Given the description of an element on the screen output the (x, y) to click on. 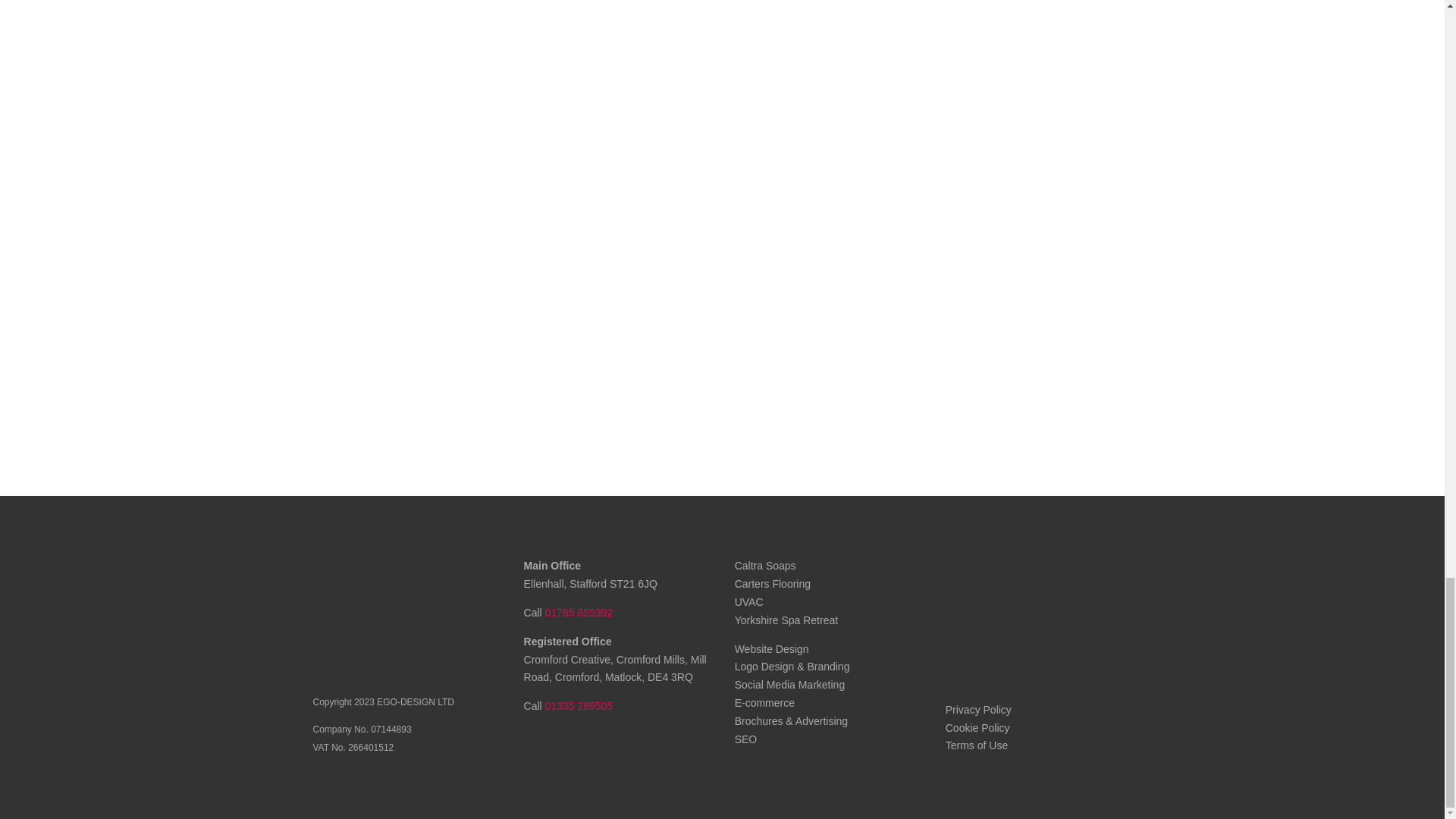
Privacy Policy (977, 709)
01785 859392 (578, 612)
E-commerce (764, 702)
Carters Flooring (772, 583)
ego-logo (368, 613)
UVAC (748, 602)
Jo Clarke and Rachel Markham (1020, 593)
Yorkshire Spa Retreat (786, 620)
Cookie Policy (977, 727)
whatsapp chat button (1021, 666)
Social Media Marketing (790, 684)
01335 289505 (578, 705)
Website Design (772, 648)
SEO (746, 739)
Caltra Soaps (765, 565)
